Given the description of an element on the screen output the (x, y) to click on. 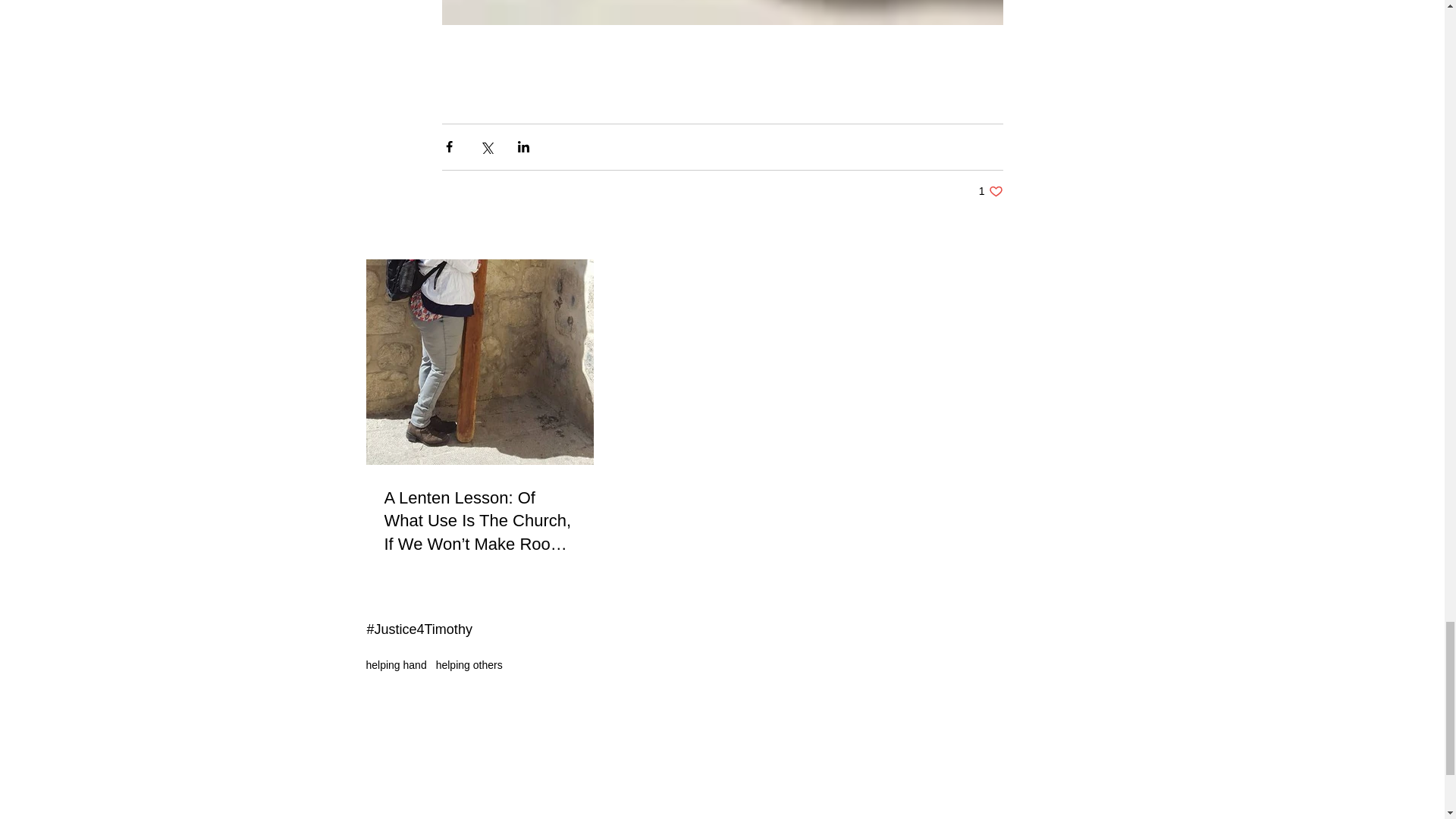
helping others (468, 664)
helping hand (395, 664)
Riding the Grief Wave (721, 154)
Triumph Over Tragedy (990, 191)
